Given the description of an element on the screen output the (x, y) to click on. 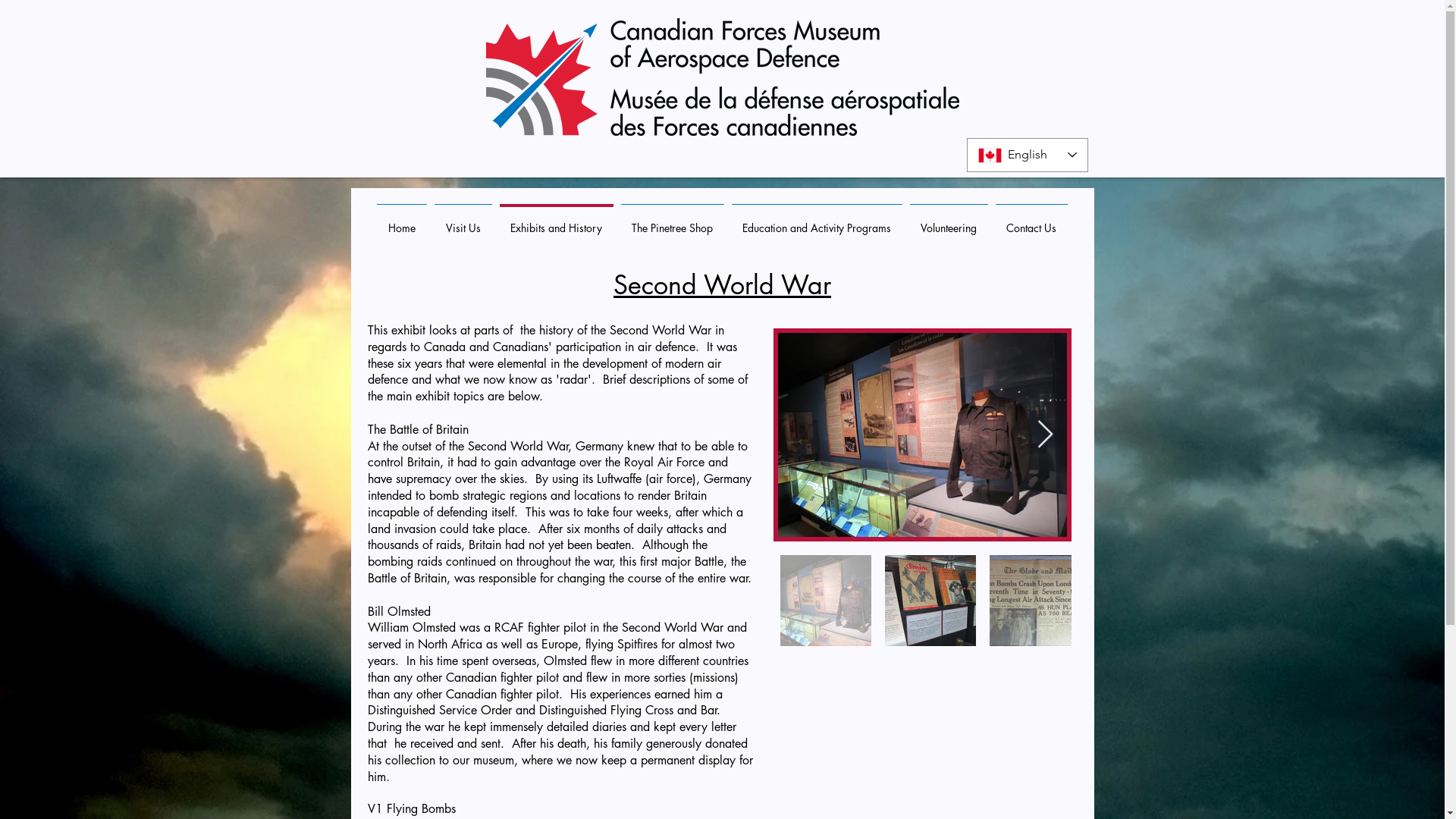
The Pinetree Shop Element type: text (672, 220)
Contact Us Element type: text (1031, 220)
Volunteering Element type: text (948, 220)
Education and Activity Programs Element type: text (817, 220)
Home Element type: text (401, 220)
Exhibits and History Element type: text (556, 220)
Visit Us Element type: text (462, 220)
